Given the description of an element on the screen output the (x, y) to click on. 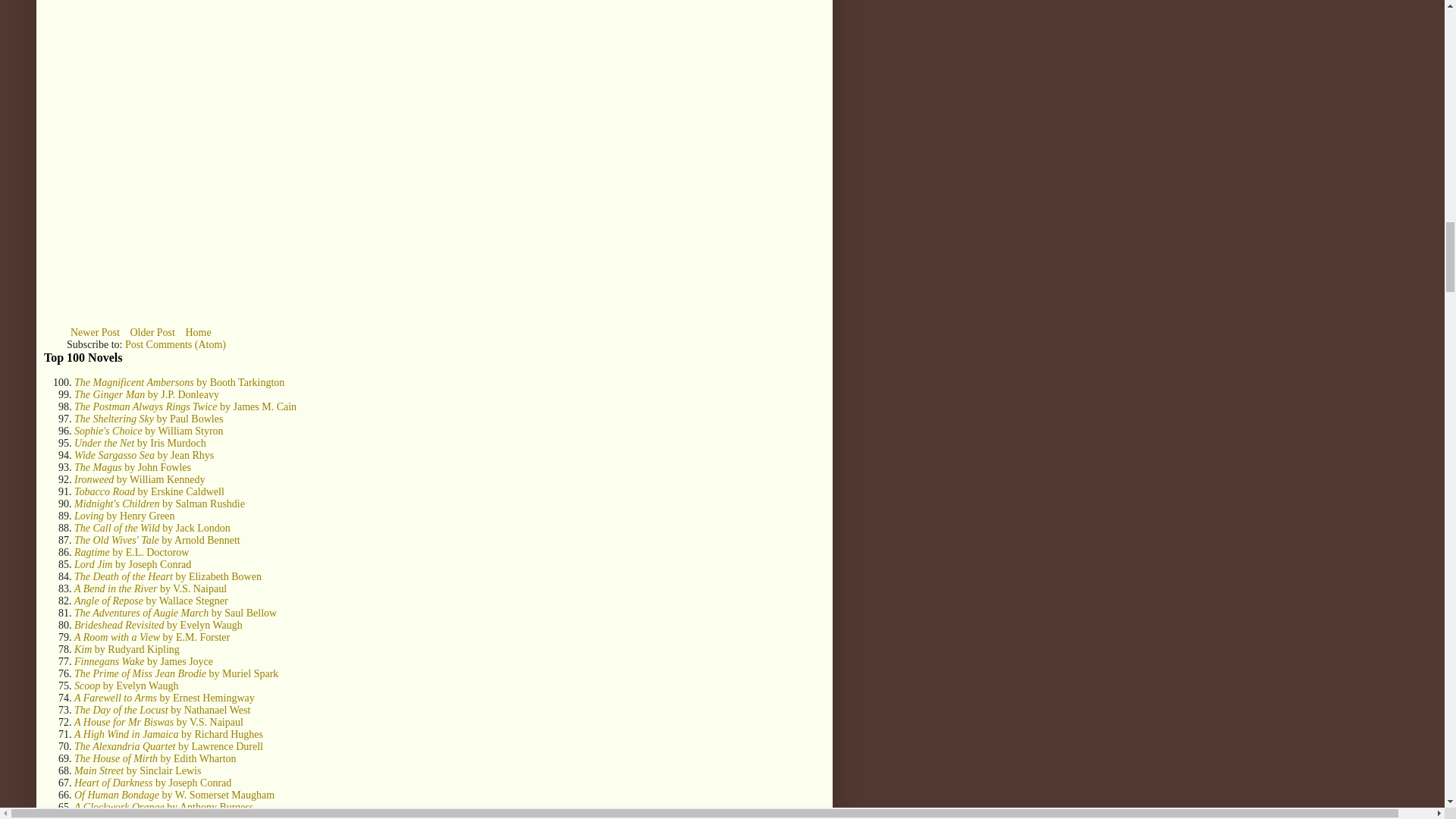
The Postman Always Rings Twice by James M. Cain (185, 406)
Ironweed by William Kennedy (139, 479)
The Sheltering Sky by Paul Bowles (148, 419)
Under the Net by Iris Murdoch (140, 442)
Newer Post (94, 332)
Older Post (152, 332)
Newer Post (94, 332)
Home (197, 332)
Sophie's Choice by William Styron (149, 430)
The Ginger Man by J.P. Donleavy (146, 394)
Tobacco Road by Erskine Caldwell (149, 491)
The Magnificent Ambersons by Booth Tarkington (178, 382)
The Magus by John Fowles (132, 467)
Wide Sargasso Sea by Jean Rhys (144, 455)
Older Post (152, 332)
